Given the description of an element on the screen output the (x, y) to click on. 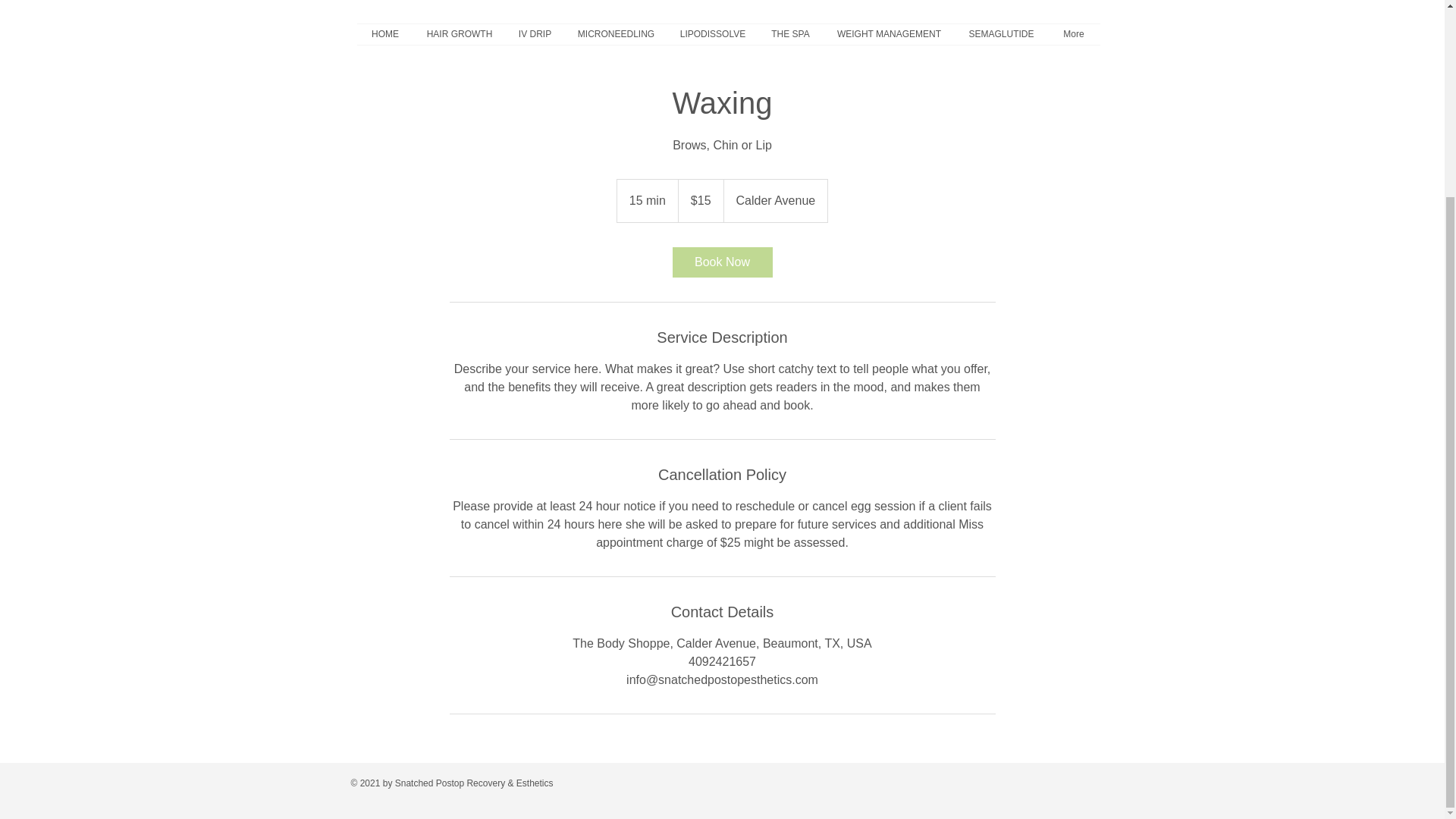
HOME (384, 34)
Book Now (721, 262)
SEMAGLUTIDE (1001, 34)
THE SPA (791, 34)
LIPODISSOLVE (711, 34)
WEIGHT MANAGEMENT (889, 34)
IV DRIP (534, 34)
MICRONEEDLING (615, 34)
HAIR GROWTH (459, 34)
